Given the description of an element on the screen output the (x, y) to click on. 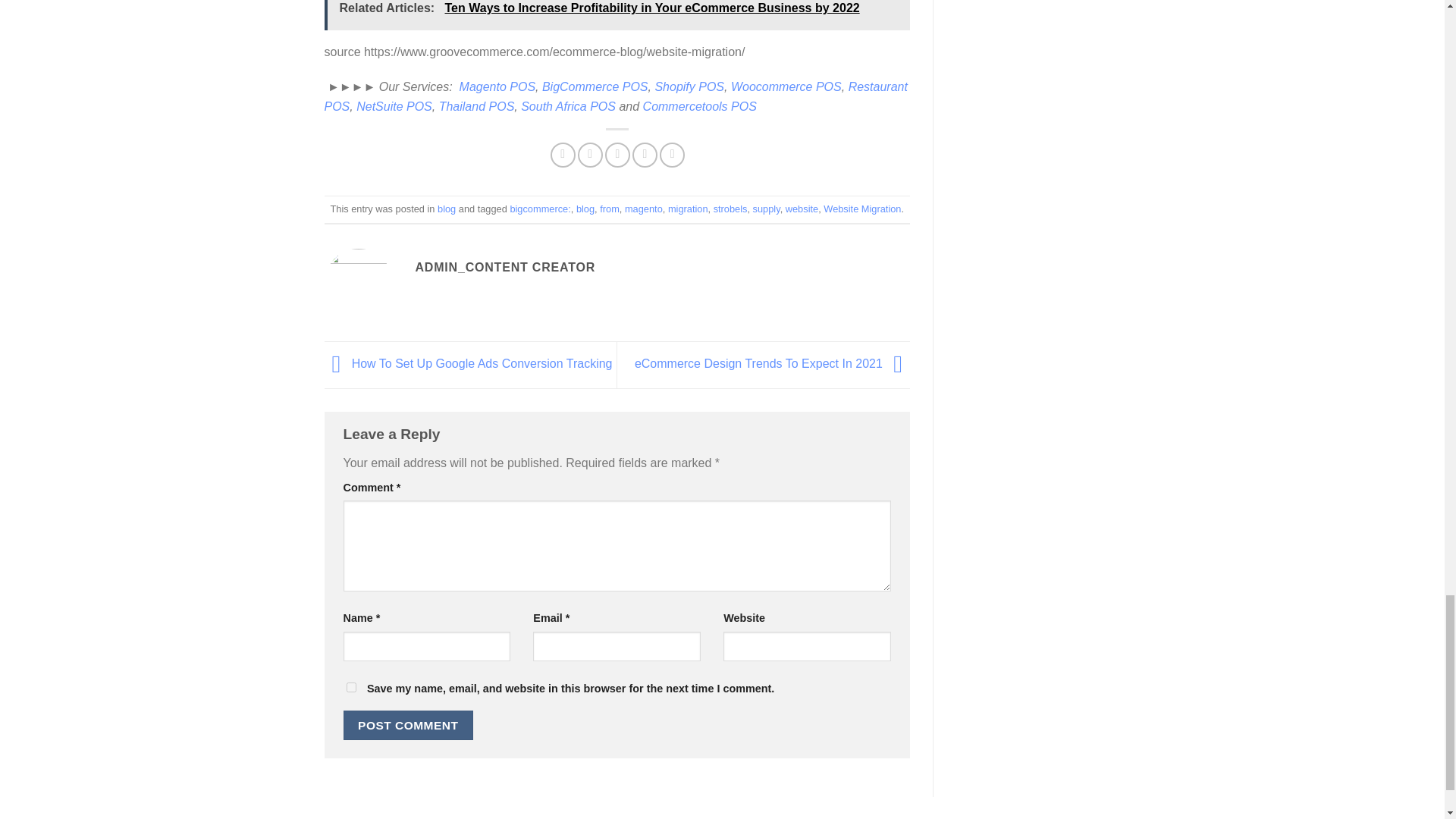
magento pos extension (497, 86)
BigCommerce POS (594, 86)
Magento POS (497, 86)
yes (350, 687)
Shopify POS (688, 86)
Post Comment (407, 725)
NetSuite POS (394, 106)
Restaurant POS (615, 96)
woocommerce pos (785, 86)
